Given the description of an element on the screen output the (x, y) to click on. 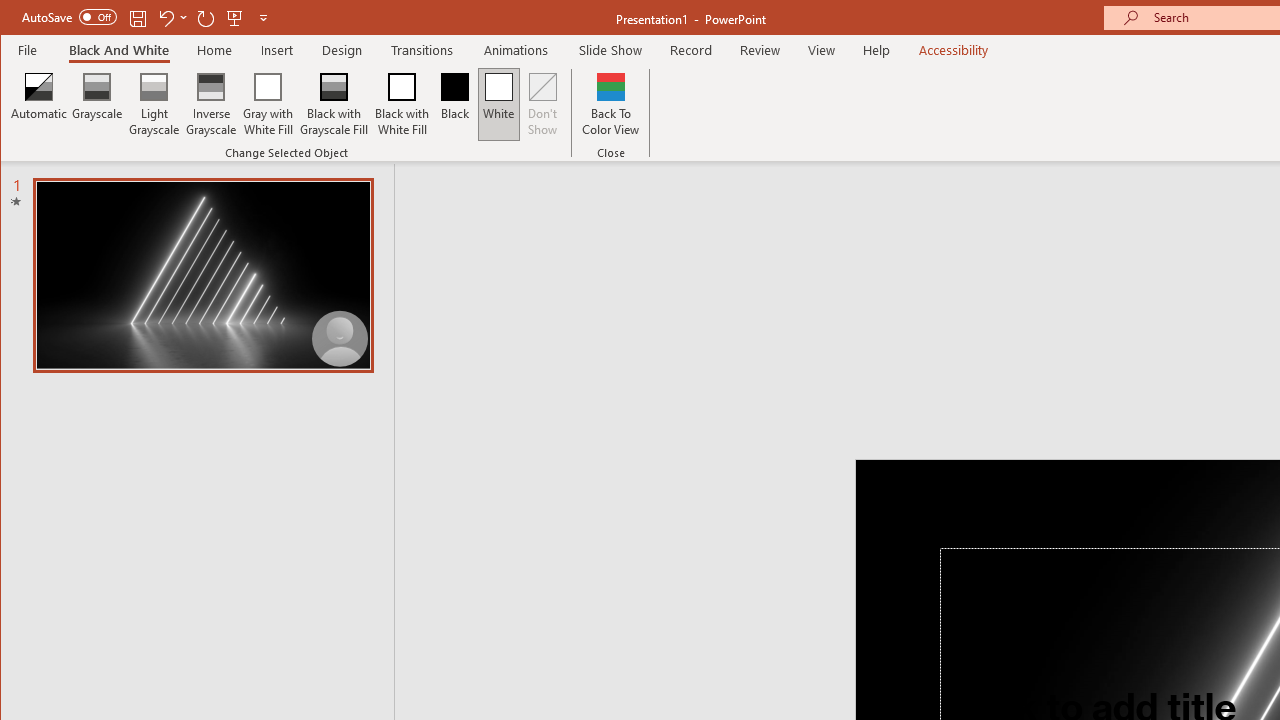
Don't Show (543, 104)
Gray with White Fill (267, 104)
Back To Color View (610, 104)
Black with White Fill (402, 104)
